Given the description of an element on the screen output the (x, y) to click on. 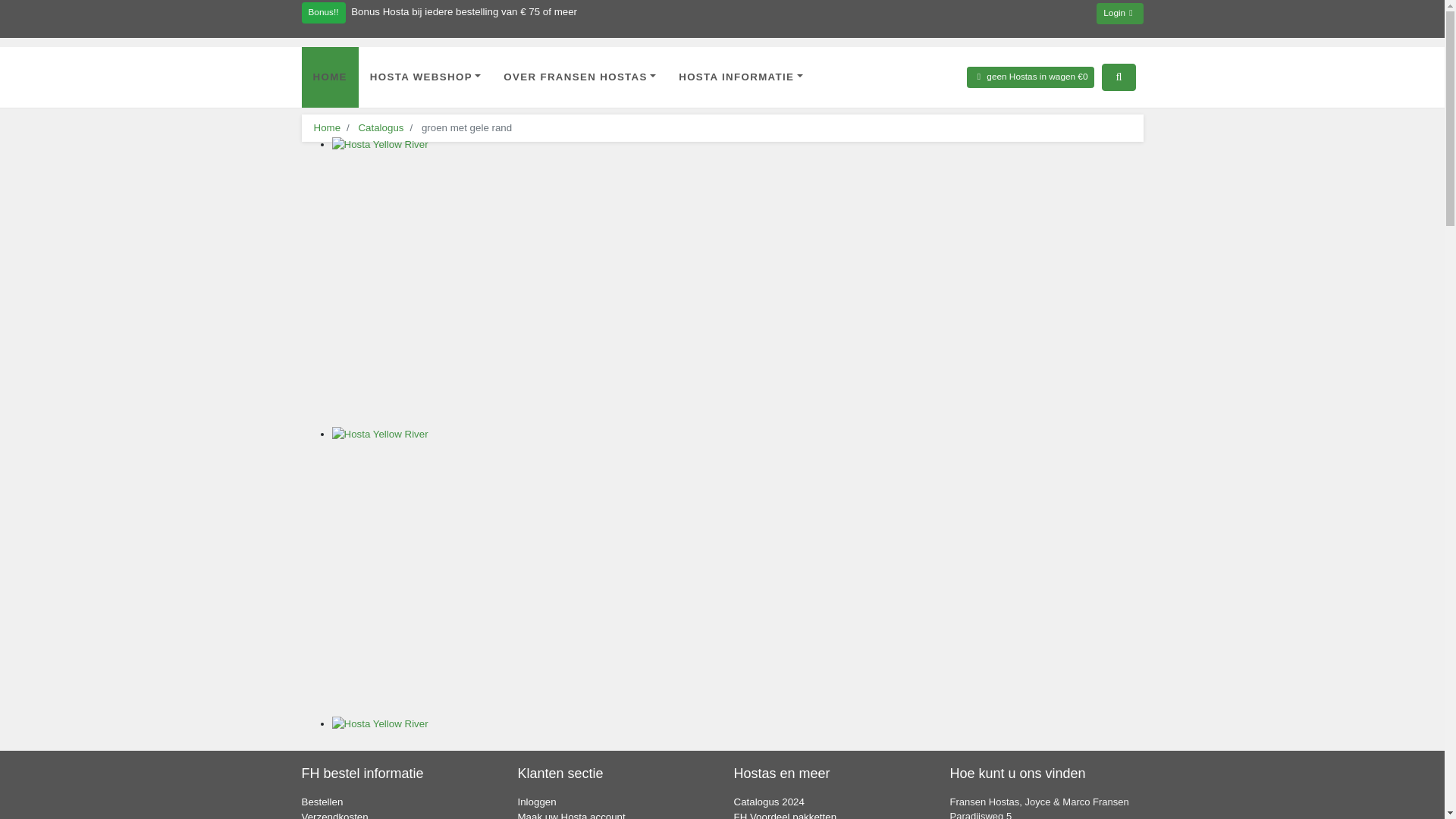
login or create your own account (1119, 13)
OVER FRANSEN HOSTAS (579, 76)
HOME (329, 76)
Login (1119, 13)
More from the same leaf color (467, 127)
Bonus!! (323, 12)
Klik hier om naar de winkelwagen te gaan (1030, 76)
HOSTA WEBSHOP (425, 76)
